Given the description of an element on the screen output the (x, y) to click on. 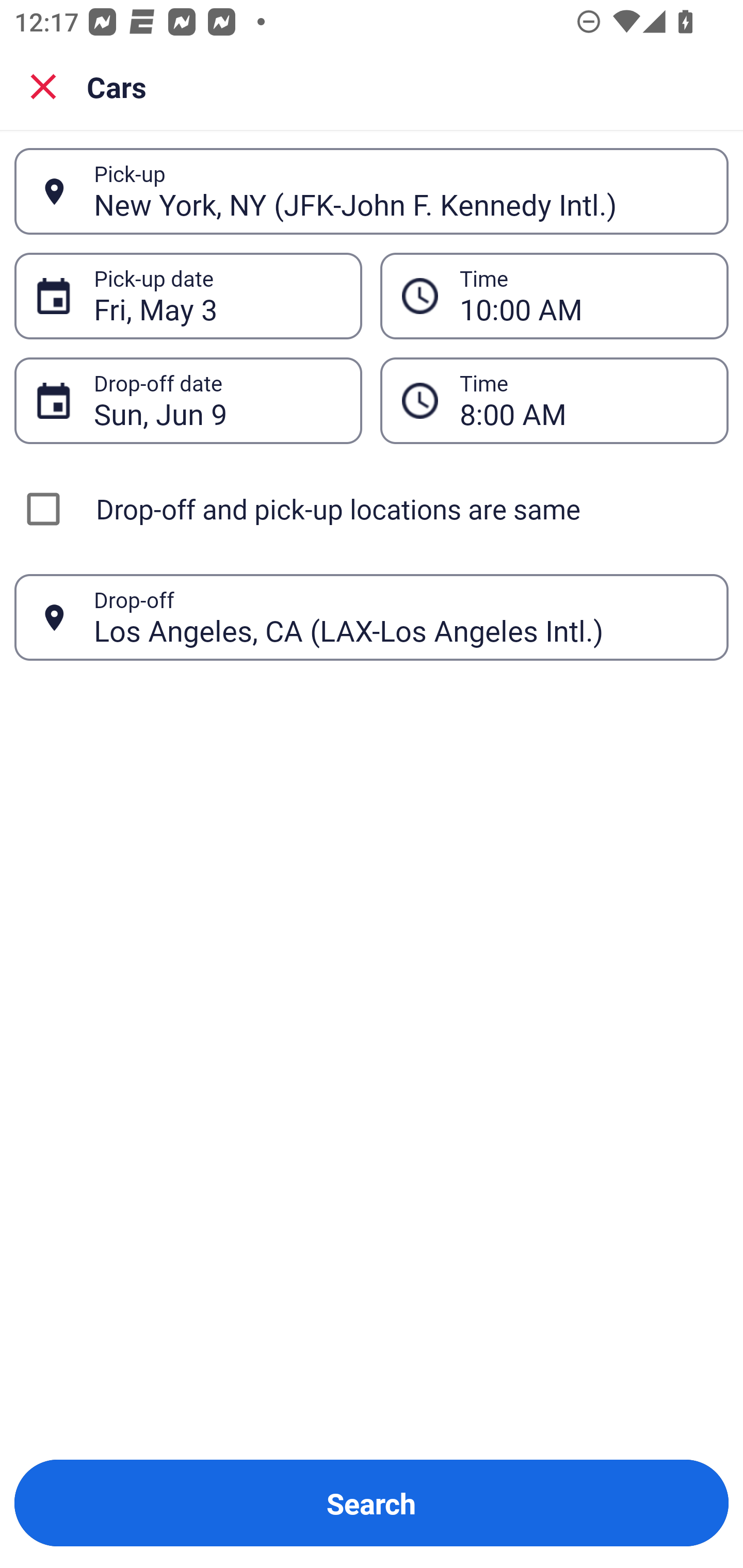
Close search screen (43, 86)
New York, NY (JFK-John F. Kennedy Intl.) Pick-up (371, 191)
New York, NY (JFK-John F. Kennedy Intl.) (399, 191)
Fri, May 3 Pick-up date (188, 295)
10:00 AM (554, 295)
Fri, May 3 (216, 296)
10:00 AM (582, 296)
Sun, Jun 9 Drop-off date (188, 400)
8:00 AM (554, 400)
Sun, Jun 9 (216, 400)
8:00 AM (582, 400)
Drop-off and pick-up locations are same (371, 508)
Los Angeles, CA (LAX-Los Angeles Intl.) Drop-off (371, 616)
Los Angeles, CA (LAX-Los Angeles Intl.) (399, 616)
Search Button Search (371, 1502)
